Given the description of an element on the screen output the (x, y) to click on. 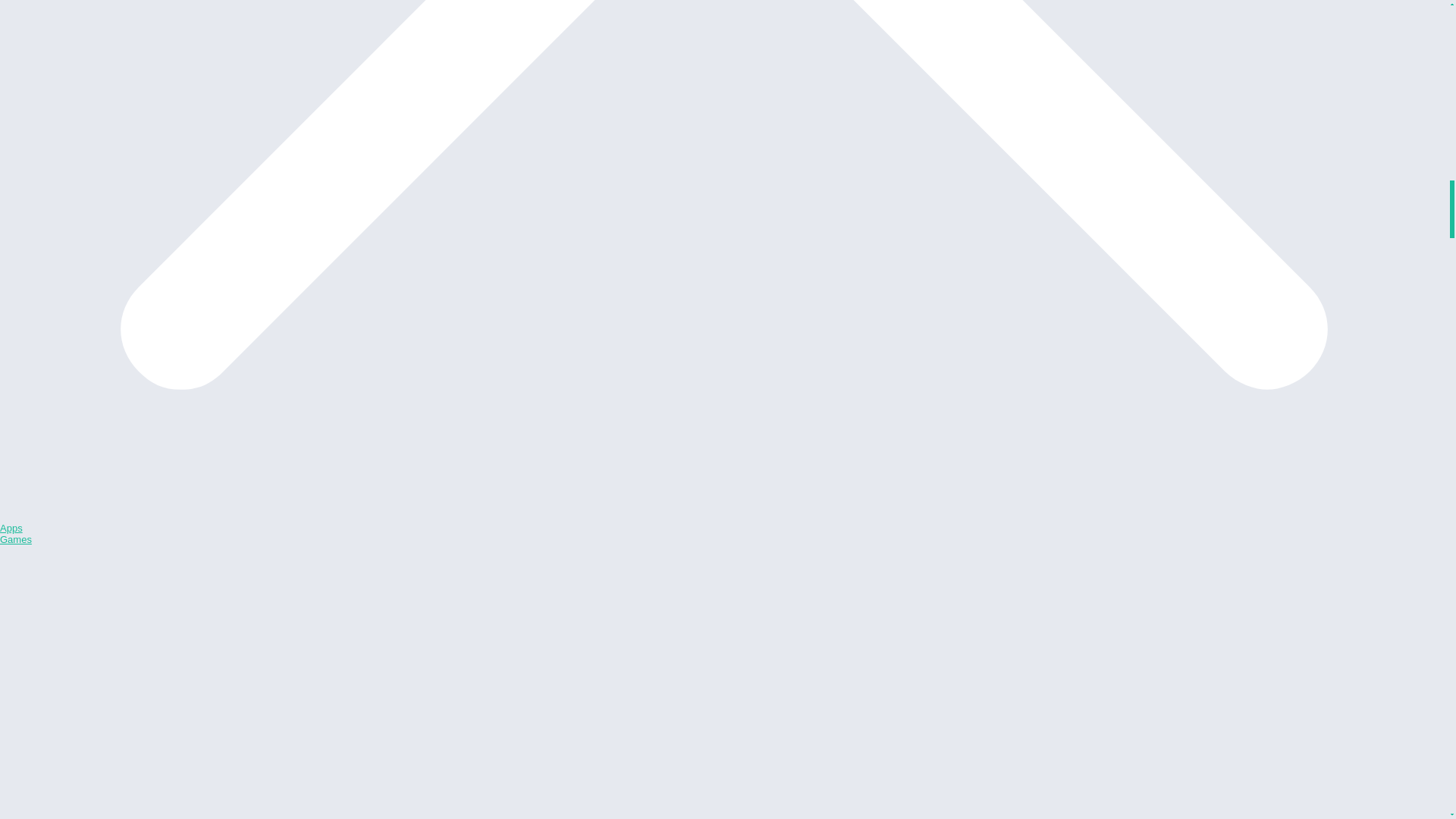
Games (16, 539)
Apps (11, 527)
